Given the description of an element on the screen output the (x, y) to click on. 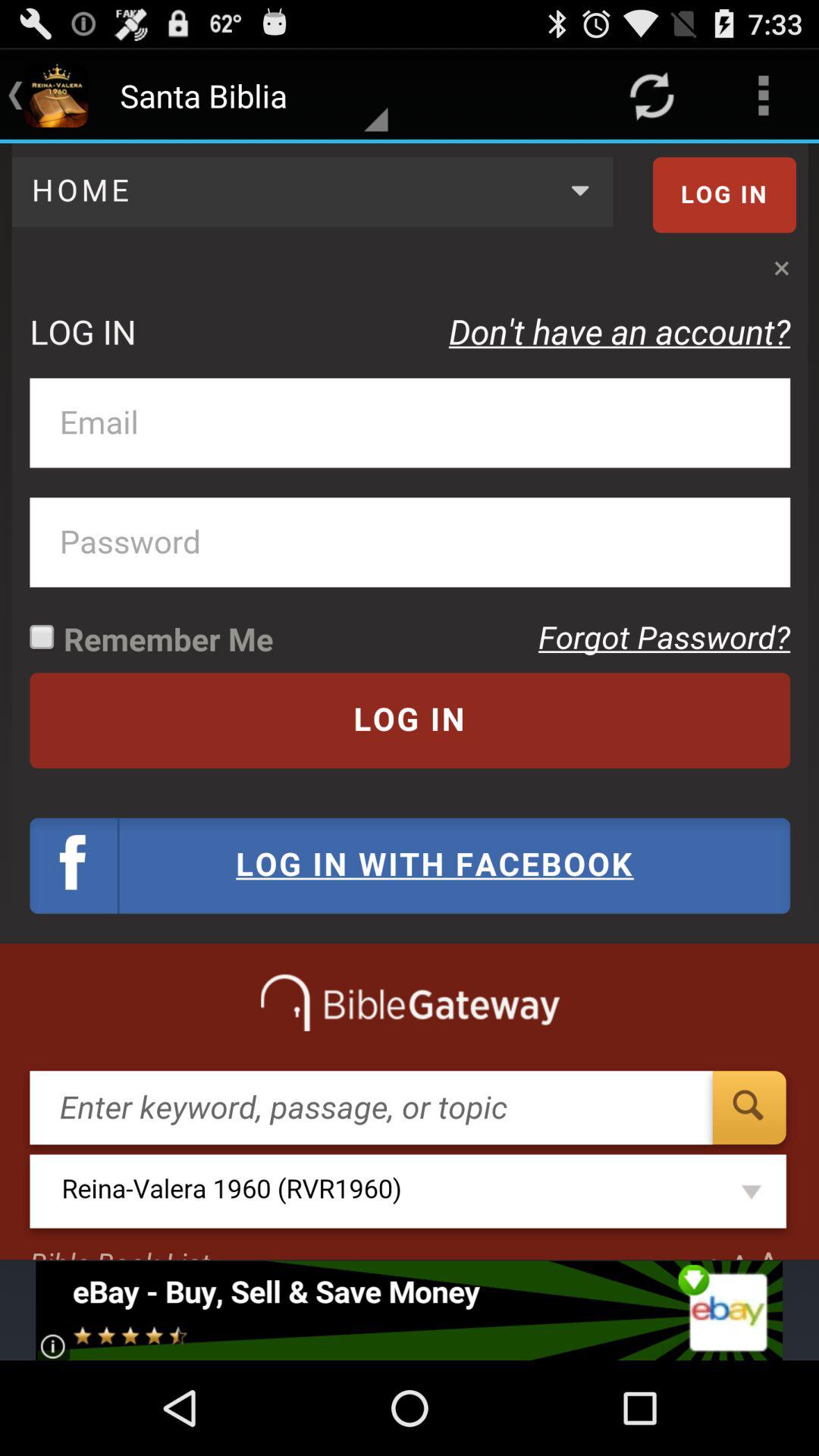
rate the app (408, 1310)
